Given the description of an element on the screen output the (x, y) to click on. 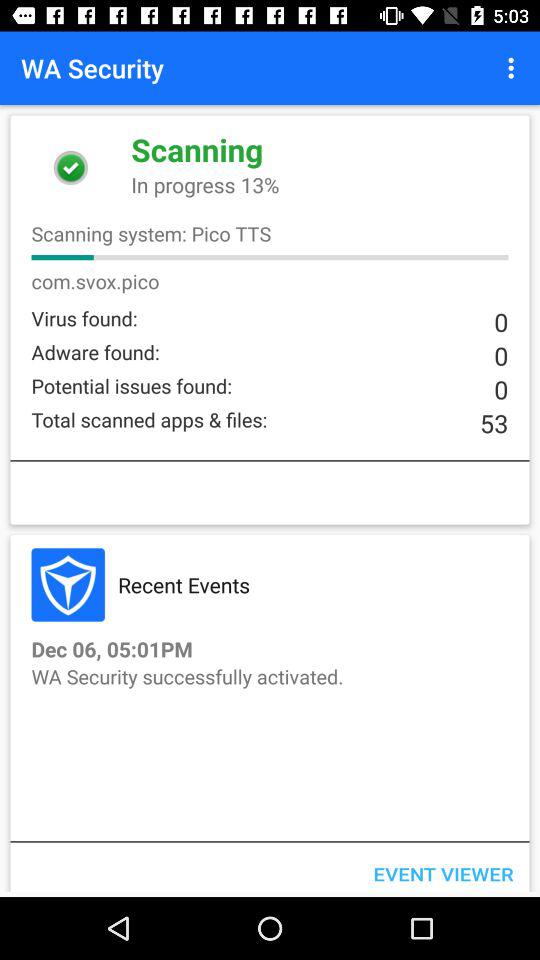
choose the icon at the bottom right corner (443, 869)
